Given the description of an element on the screen output the (x, y) to click on. 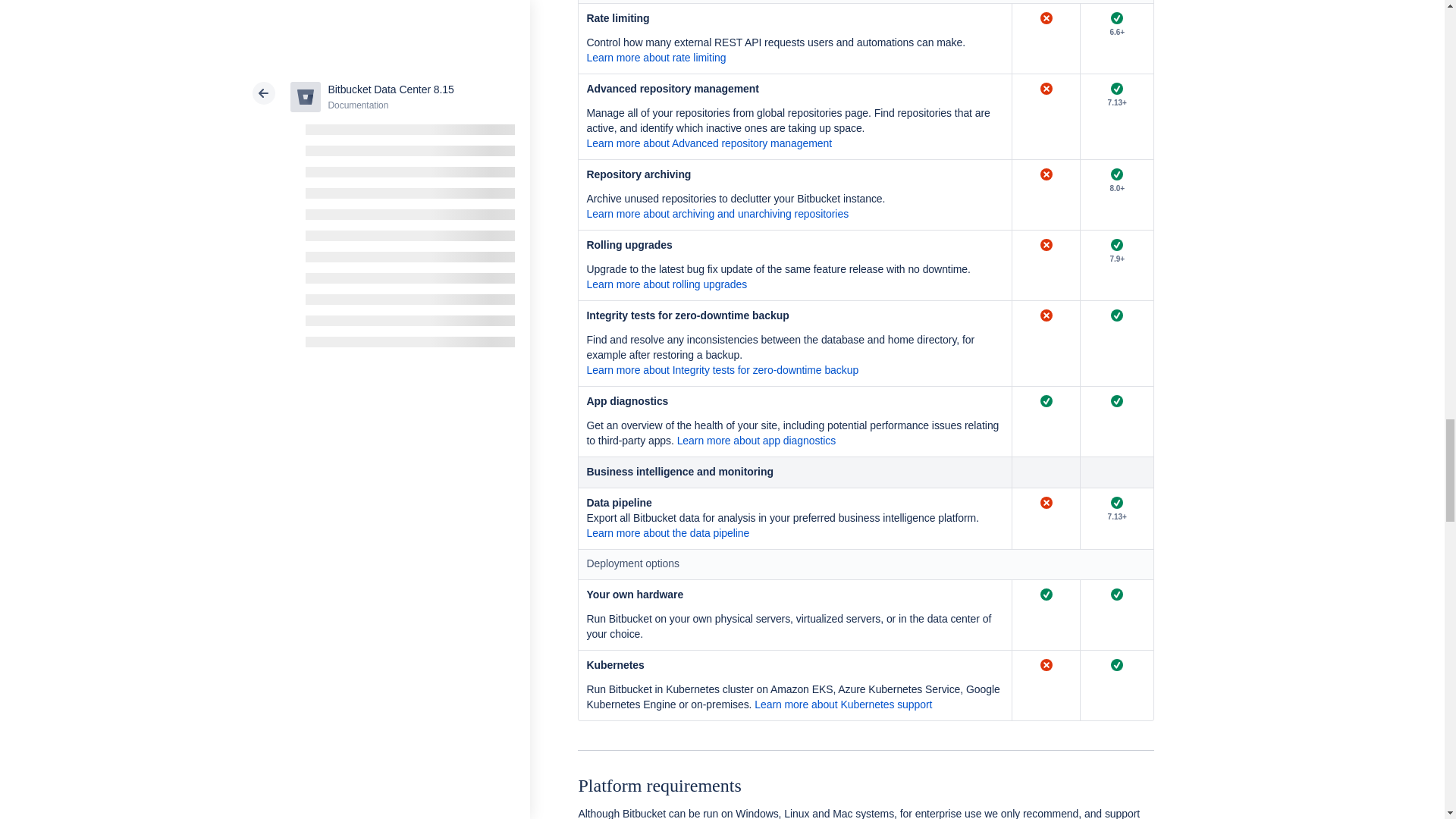
Background colour : Grey (1116, 472)
Background colour : Grey (1045, 472)
Background colour : Grey (794, 472)
